Given the description of an element on the screen output the (x, y) to click on. 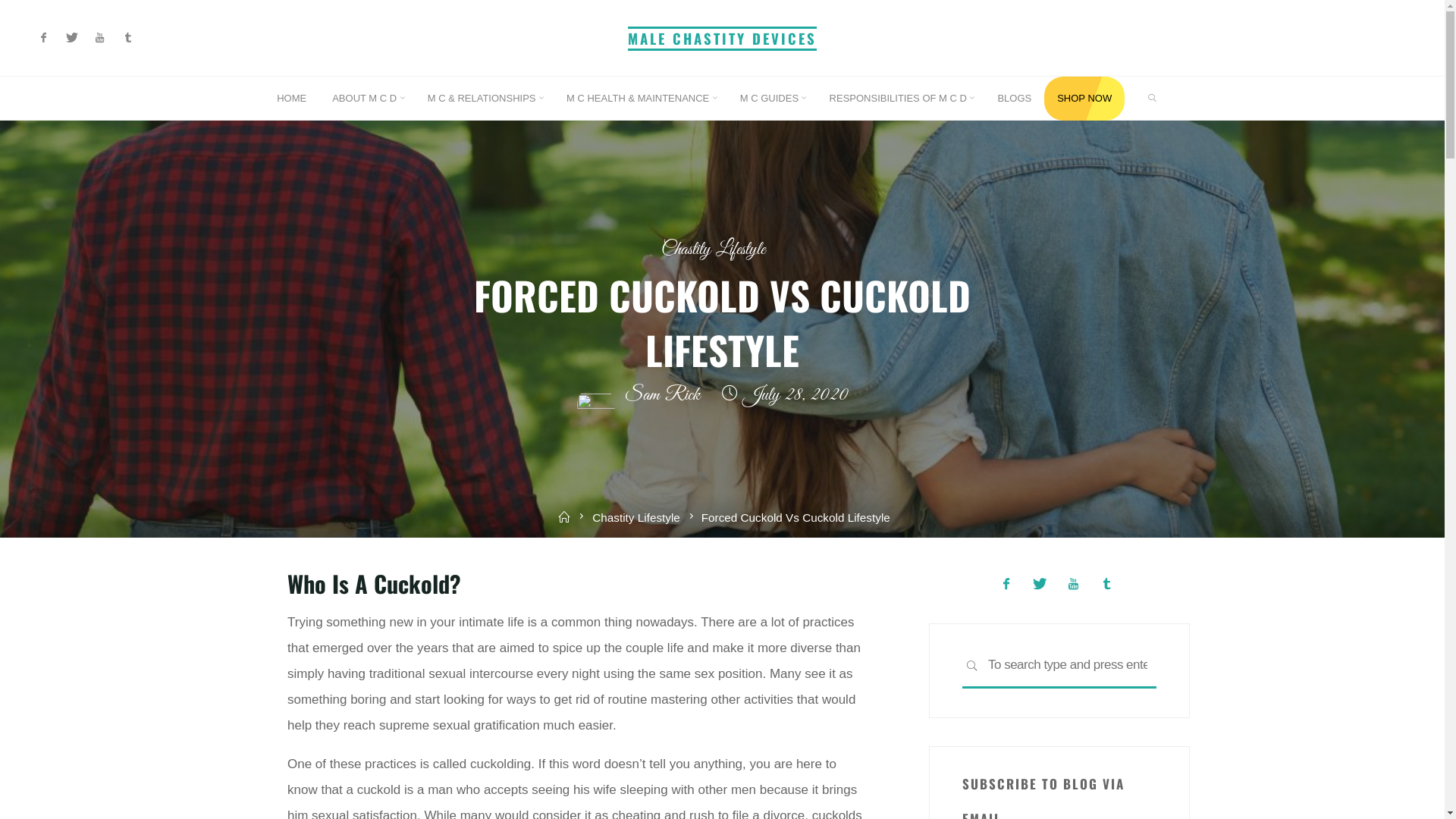
M C & RELATIONSHIPS Element type: text (483, 98)
HOME Element type: text (291, 98)
Home Element type: text (564, 517)
twitter Element type: hover (1040, 584)
facebook Element type: hover (43, 38)
BLOGS Element type: text (1014, 98)
youtube Element type: hover (99, 38)
tumblr Element type: hover (127, 38)
Sam Rick Element type: text (659, 395)
SHOP NOW Element type: text (1084, 98)
SEARCH Element type: text (1152, 98)
MALE CHASTITY DEVICES Element type: text (721, 37)
youtube Element type: hover (1073, 584)
tumblr Element type: hover (1106, 584)
ABOUT M C D Element type: text (366, 98)
M C GUIDES Element type: text (771, 98)
RESPONSIBILITIES OF M C D Element type: text (900, 98)
M C HEALTH & MAINTENANCE Element type: text (640, 98)
twitter Element type: hover (71, 38)
facebook Element type: hover (1005, 584)
Date Element type: hover (729, 395)
Chastity Lifestyle Element type: text (635, 517)
Chastity Lifestyle Element type: text (713, 250)
SEARCH Element type: text (972, 666)
